Given the description of an element on the screen output the (x, y) to click on. 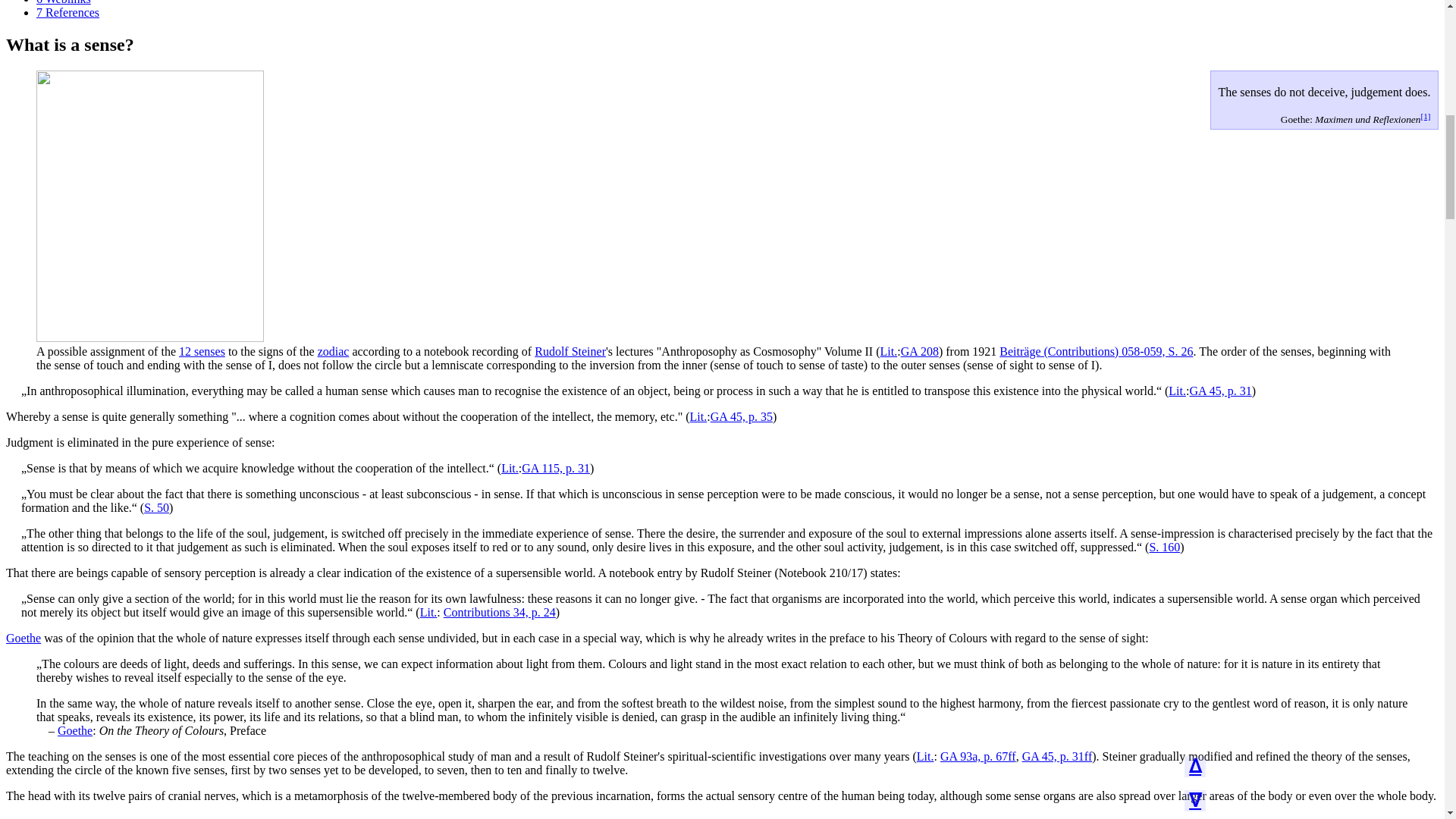
6 Weblinks (63, 2)
